Given the description of an element on the screen output the (x, y) to click on. 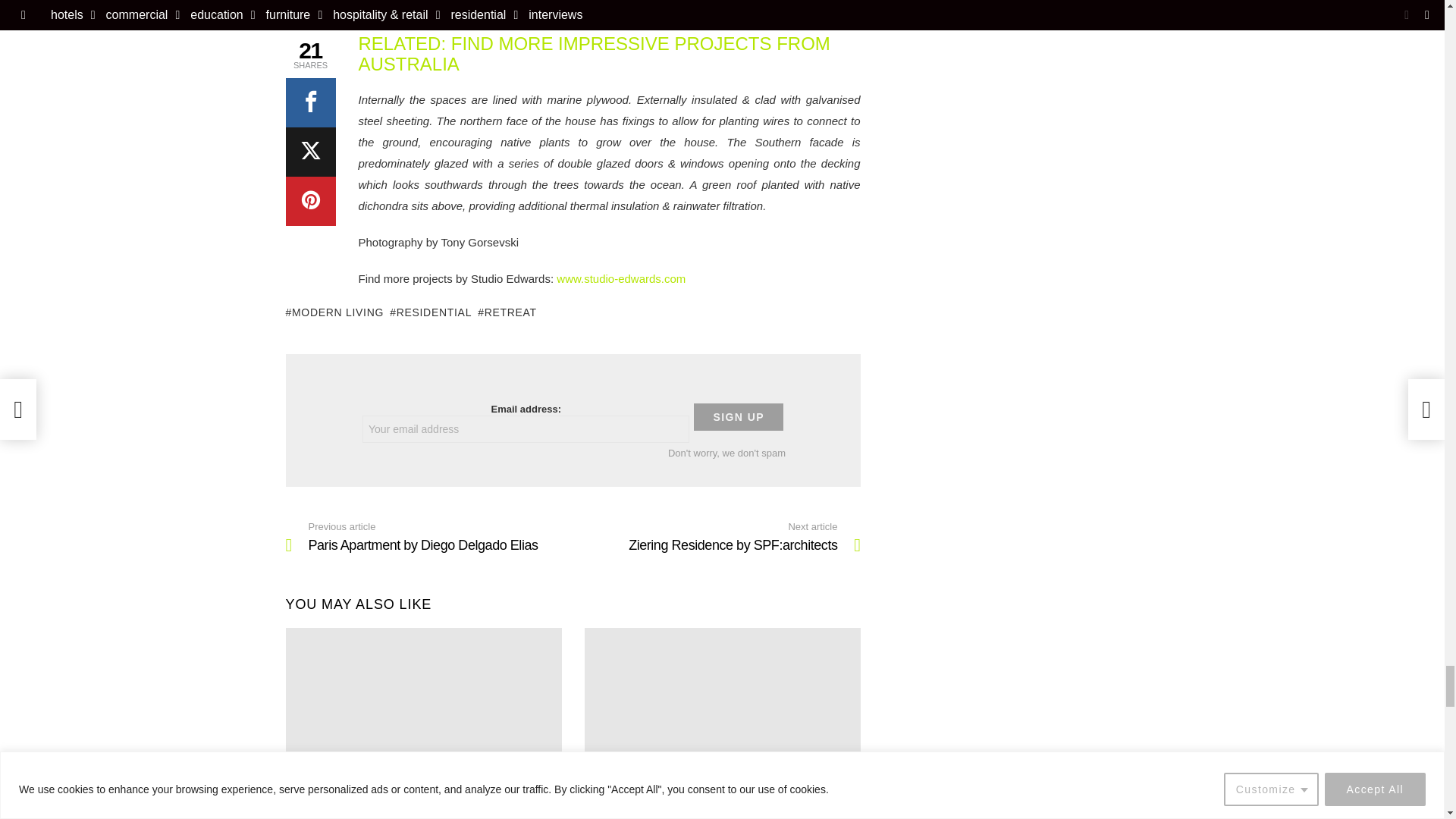
Sign up (738, 416)
